Given the description of an element on the screen output the (x, y) to click on. 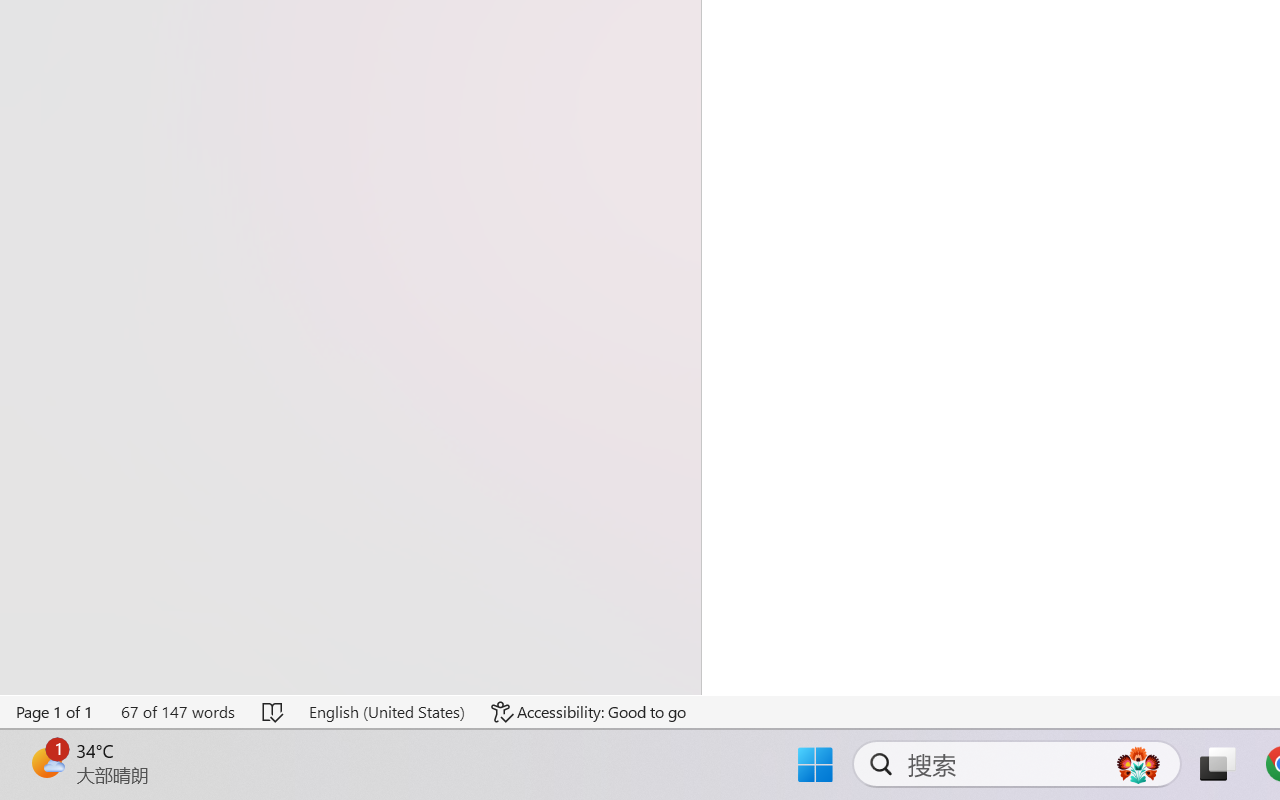
Page Number Page 1 of 1 (55, 712)
